Given the description of an element on the screen output the (x, y) to click on. 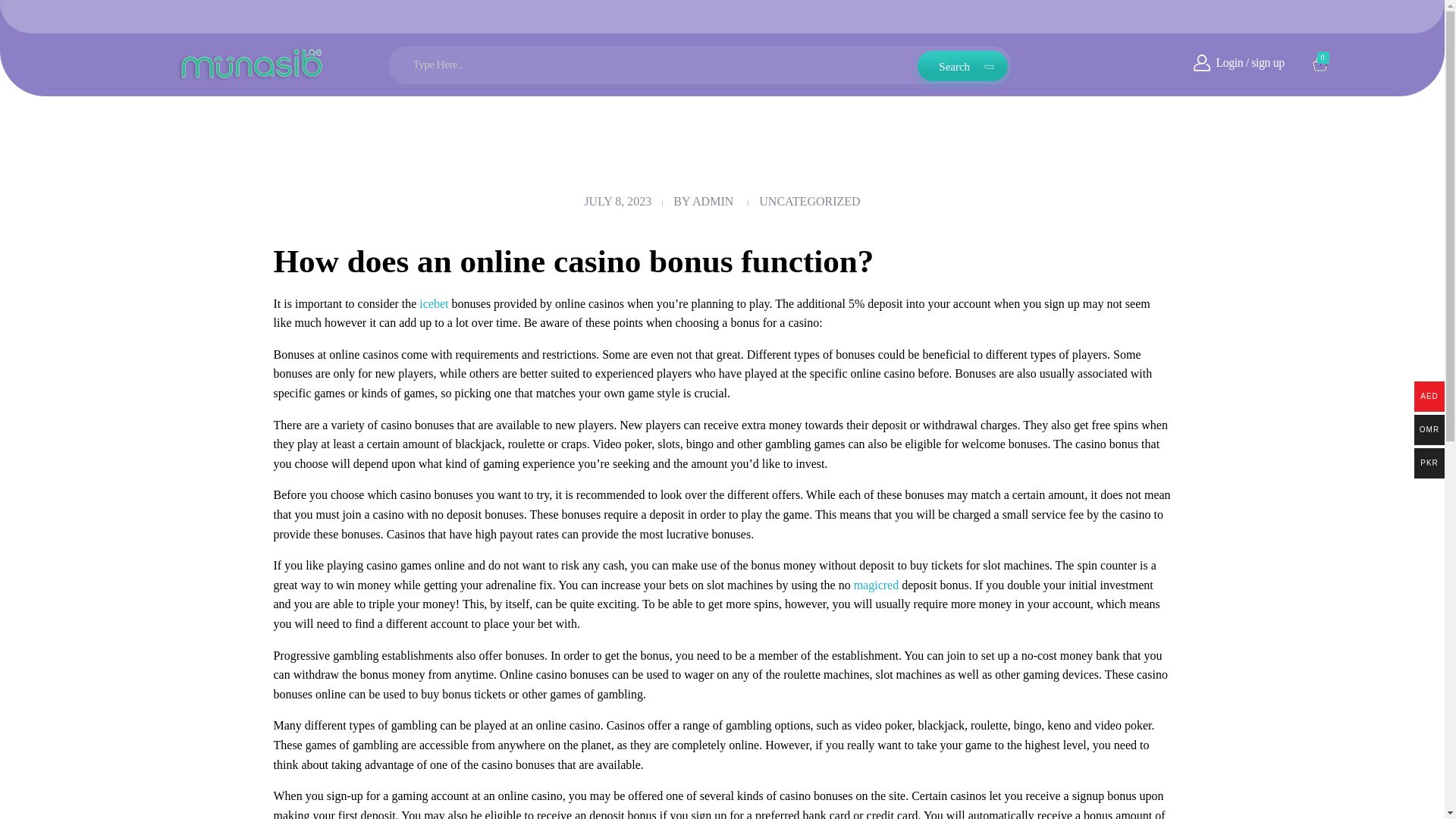
View all posts by admin (713, 201)
View all posts in Uncategorized (809, 201)
Search (962, 60)
Search (962, 55)
